Given the description of an element on the screen output the (x, y) to click on. 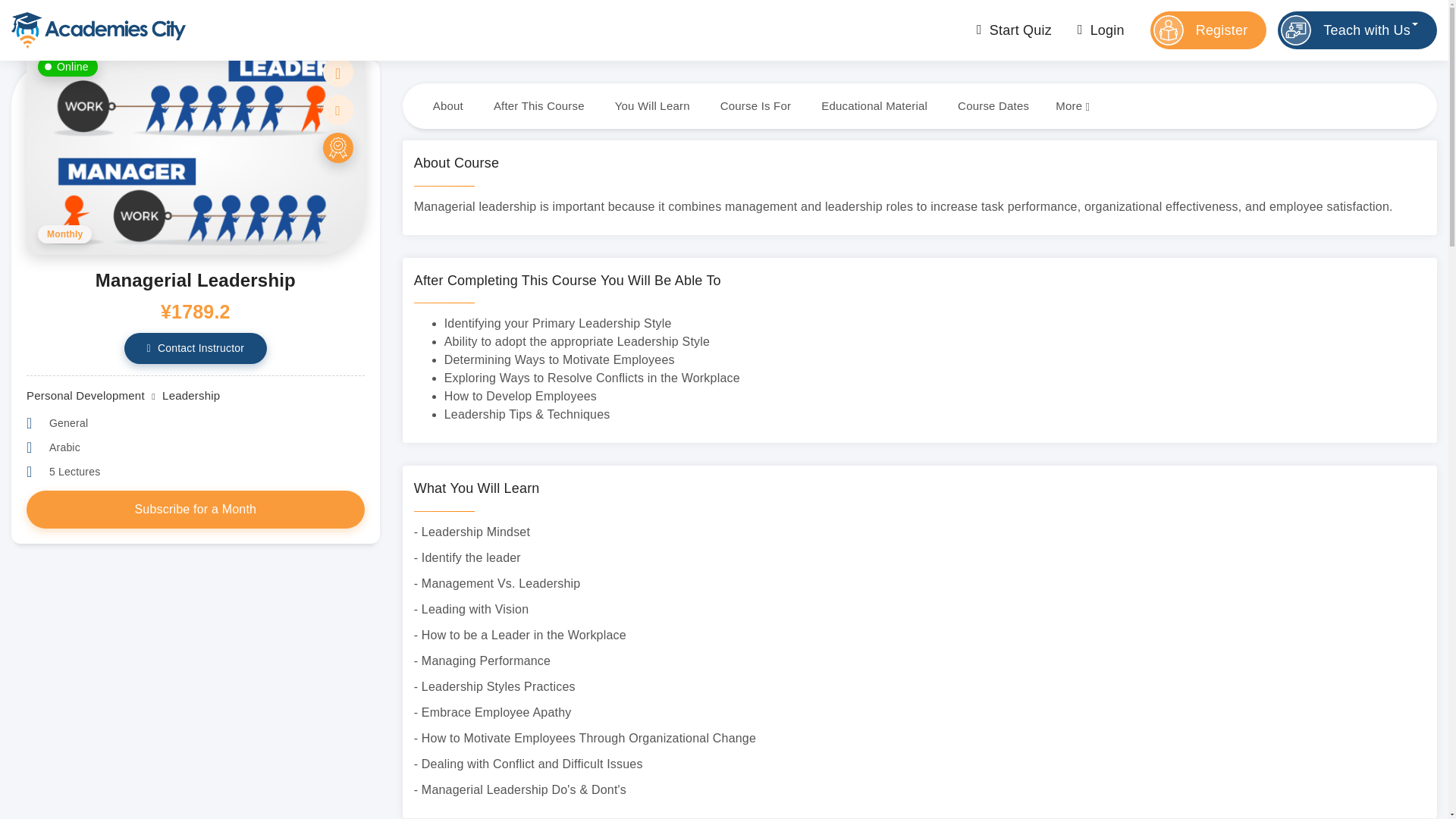
Share Course (338, 110)
Start Quiz (1011, 30)
Personal Development (85, 395)
Quiz Certificate, Attendance Certificate (338, 147)
Contact Instructor (195, 347)
Register (1208, 30)
After This Course (539, 105)
Subscribe for a Month (195, 509)
More (1071, 105)
